Given the description of an element on the screen output the (x, y) to click on. 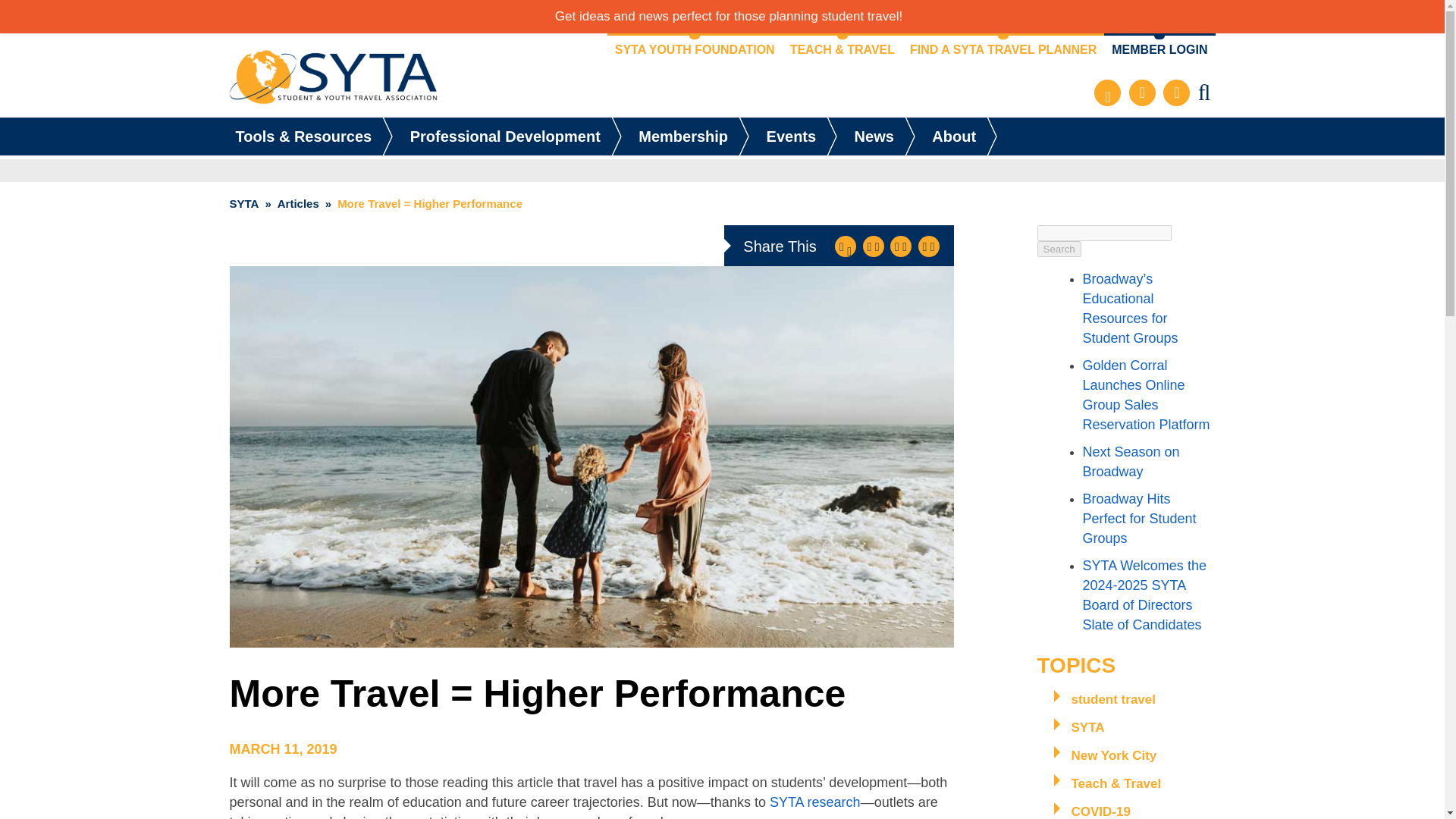
MEMBER LOGIN (1158, 49)
Go to the Articles category archives. (298, 203)
SYTA YOUTH FOUNDATION (695, 49)
FIND A SYTA TRAVEL PLANNER (1002, 49)
Go to SYTA. (243, 203)
Search (1058, 248)
